Given the description of an element on the screen output the (x, y) to click on. 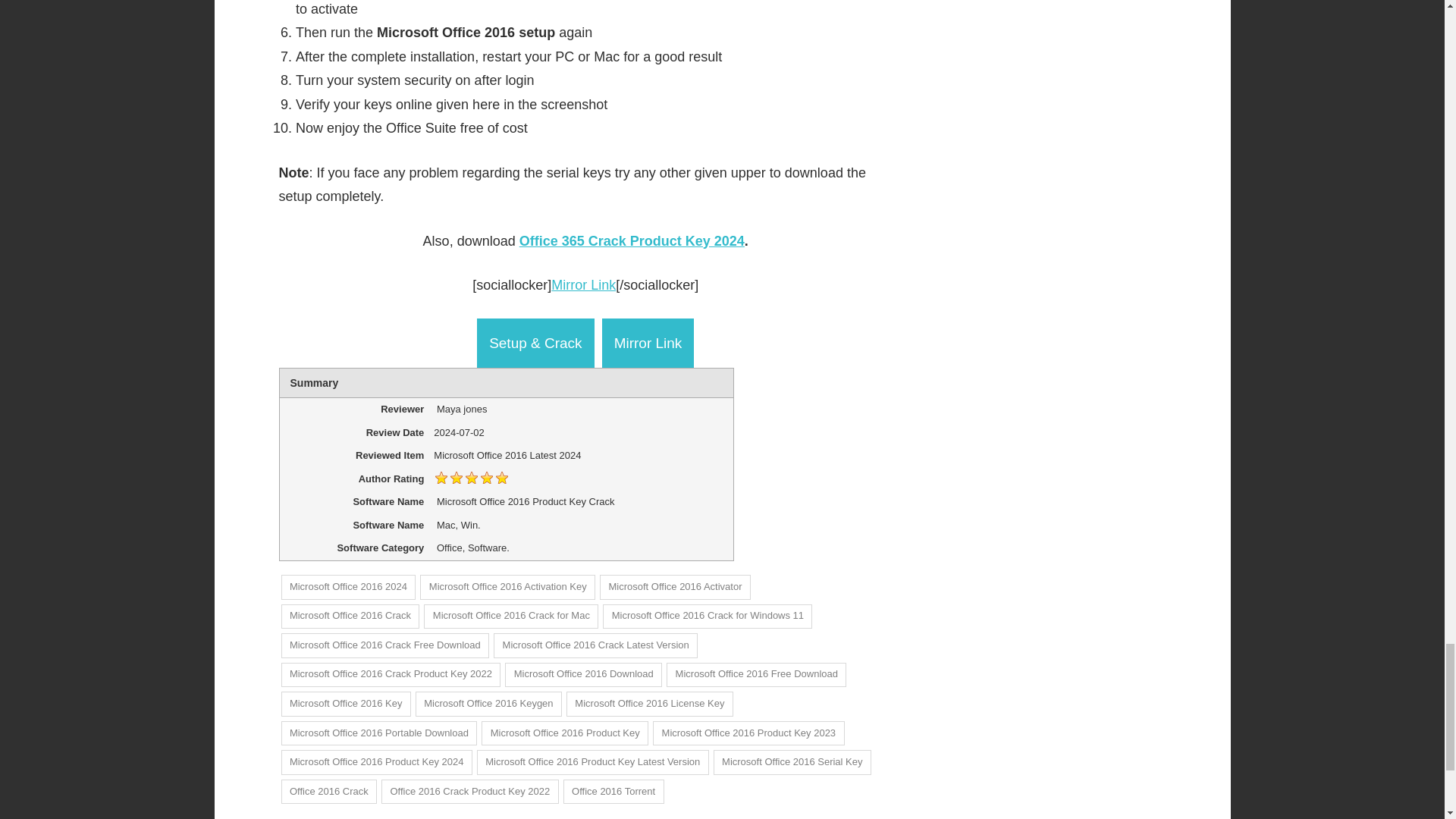
Office 365 Crack Product Key 2024 (631, 240)
Mirror Link (648, 342)
Mirror Link (583, 284)
